Given the description of an element on the screen output the (x, y) to click on. 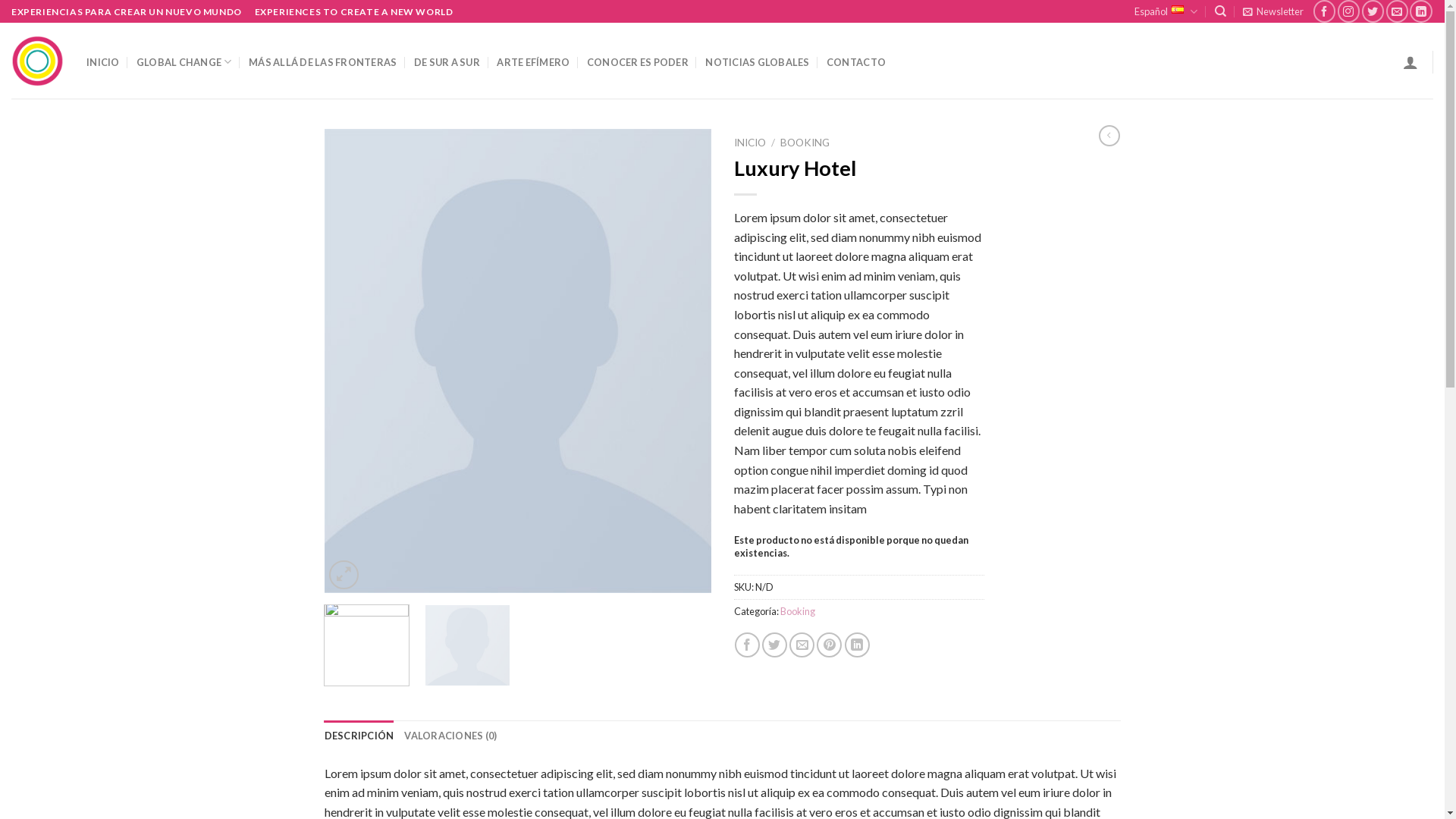
BOOKING Element type: text (804, 142)
Booking Element type: text (796, 611)
GLOBAL CHANGE Element type: text (184, 62)
Newsletter Element type: text (1272, 11)
Zoom Element type: hover (343, 574)
VALORACIONES (0) Element type: text (450, 735)
NOTICIAS GLOBALES Element type: text (757, 62)
Compartir en Twitter Element type: hover (774, 644)
Compartir en LinkedIn Element type: hover (856, 644)
CONTACTO Element type: text (855, 62)
CONOCER ES PODER Element type: text (637, 62)
Global Change - Experiencias para gestar un nuevo mundo Element type: hover (37, 61)
DE SUR A SUR Element type: text (447, 62)
Compartir en Facebook Element type: hover (746, 644)
Pinear en Pinterest Element type: hover (828, 644)
INICIO Element type: text (102, 62)
INICIO Element type: text (749, 142)
